Given the description of an element on the screen output the (x, y) to click on. 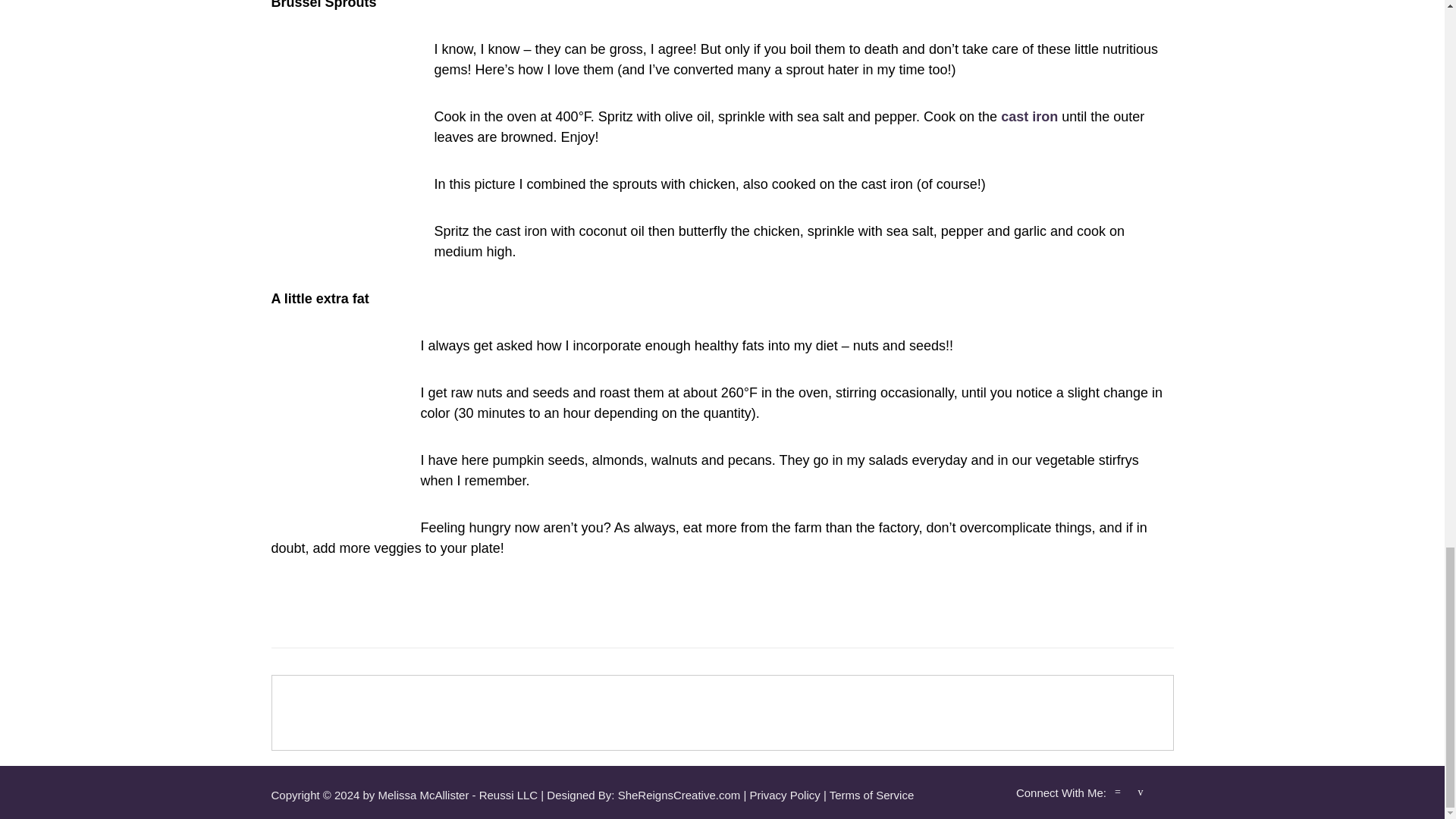
cast iron (1029, 116)
Terms of Service (871, 794)
Privacy Policy (784, 794)
SheReignsCreative.com (679, 794)
